Given the description of an element on the screen output the (x, y) to click on. 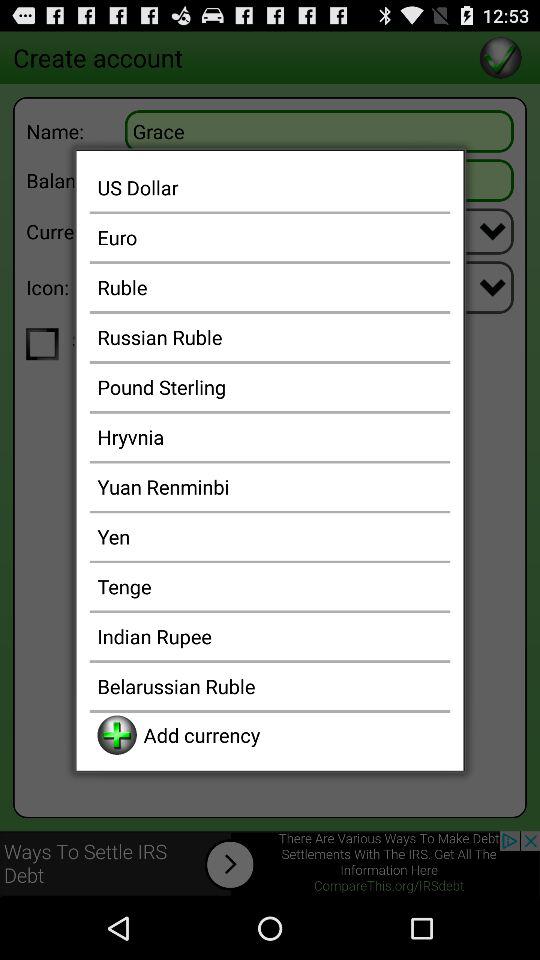
jump until the yuan renminbi item (269, 486)
